Given the description of an element on the screen output the (x, y) to click on. 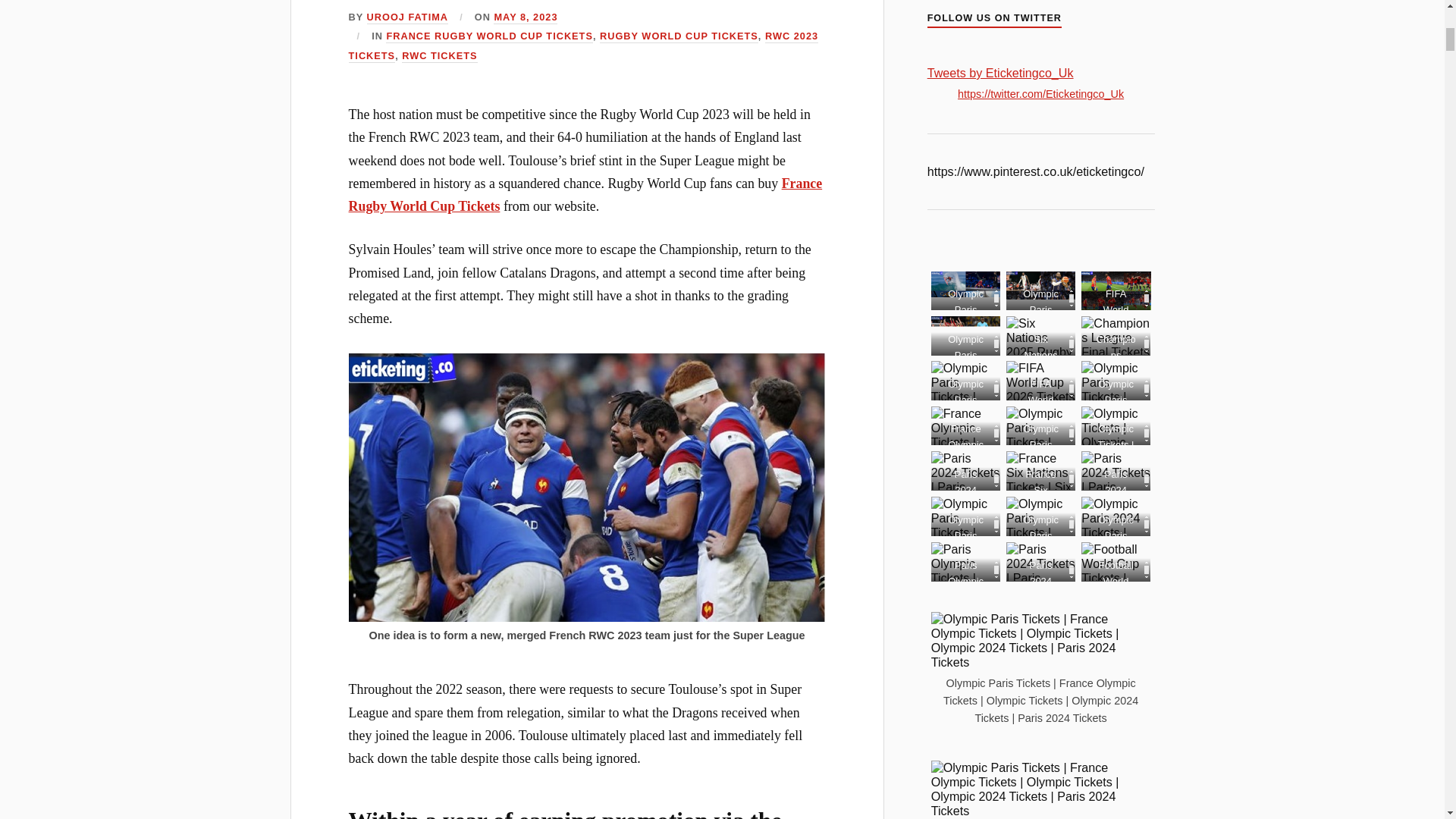
RWC 2023 TICKETS (583, 46)
UROOJ FATIMA (407, 17)
MAY 8, 2023 (525, 17)
RWC TICKETS (439, 56)
RUGBY WORLD CUP TICKETS (678, 36)
Posts by Urooj Fatima (407, 17)
France Rugby World Cup Tickets (585, 194)
FRANCE RUGBY WORLD CUP TICKETS (488, 36)
